Given the description of an element on the screen output the (x, y) to click on. 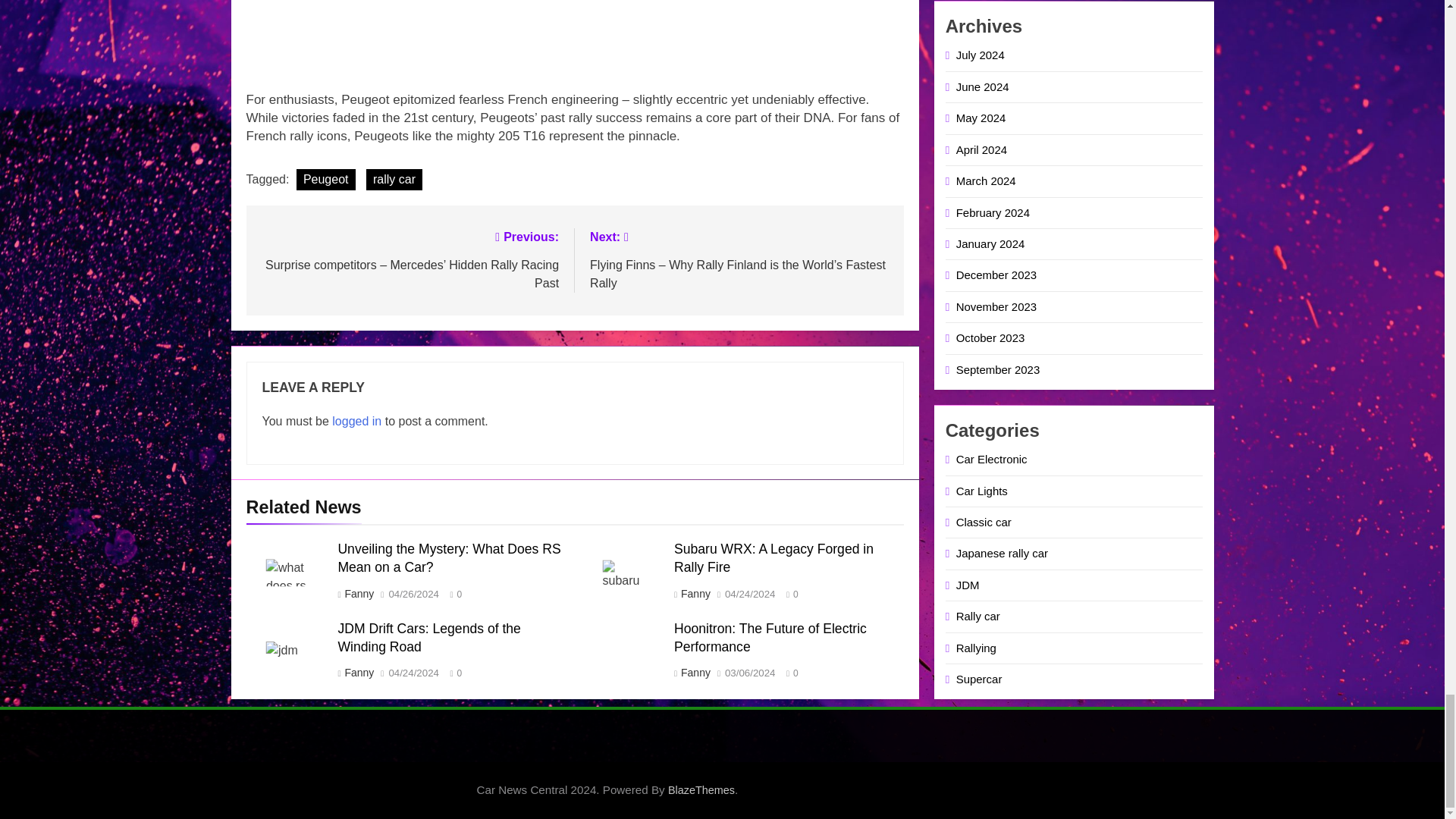
Peugeot (326, 179)
Subaru WRX: A Legacy Forged in Rally Fire (773, 557)
Fanny (695, 593)
Fanny (357, 593)
0 (787, 593)
Unveiling the Mystery: What Does RS Mean on a Car? (448, 557)
rally car (394, 179)
0 (451, 593)
logged in (356, 420)
